Given the description of an element on the screen output the (x, y) to click on. 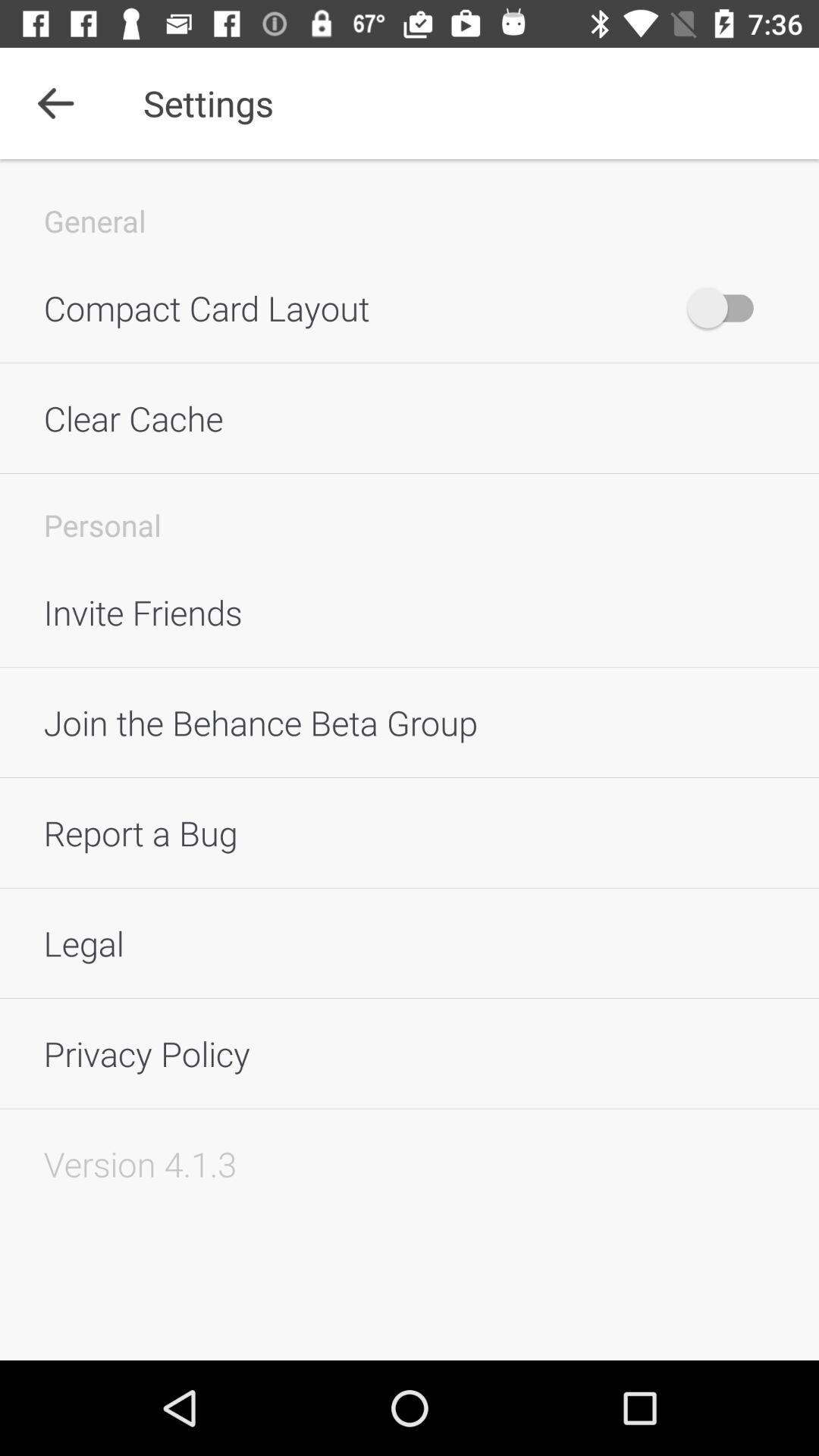
click the icon to the left of the settings icon (55, 103)
